Given the description of an element on the screen output the (x, y) to click on. 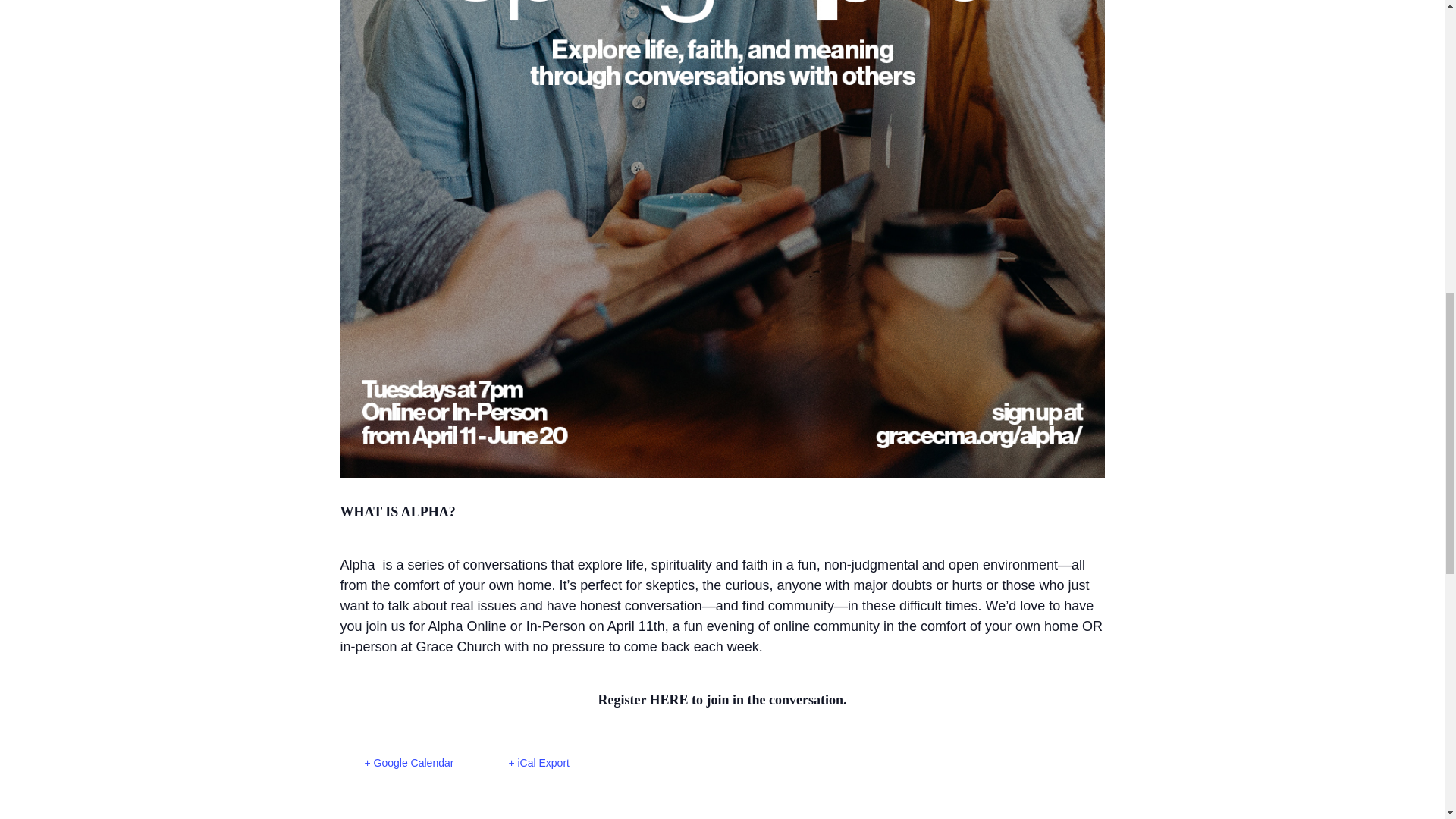
Download .ics file (526, 763)
Add to Google Calendar (395, 763)
HERE (668, 700)
